Given the description of an element on the screen output the (x, y) to click on. 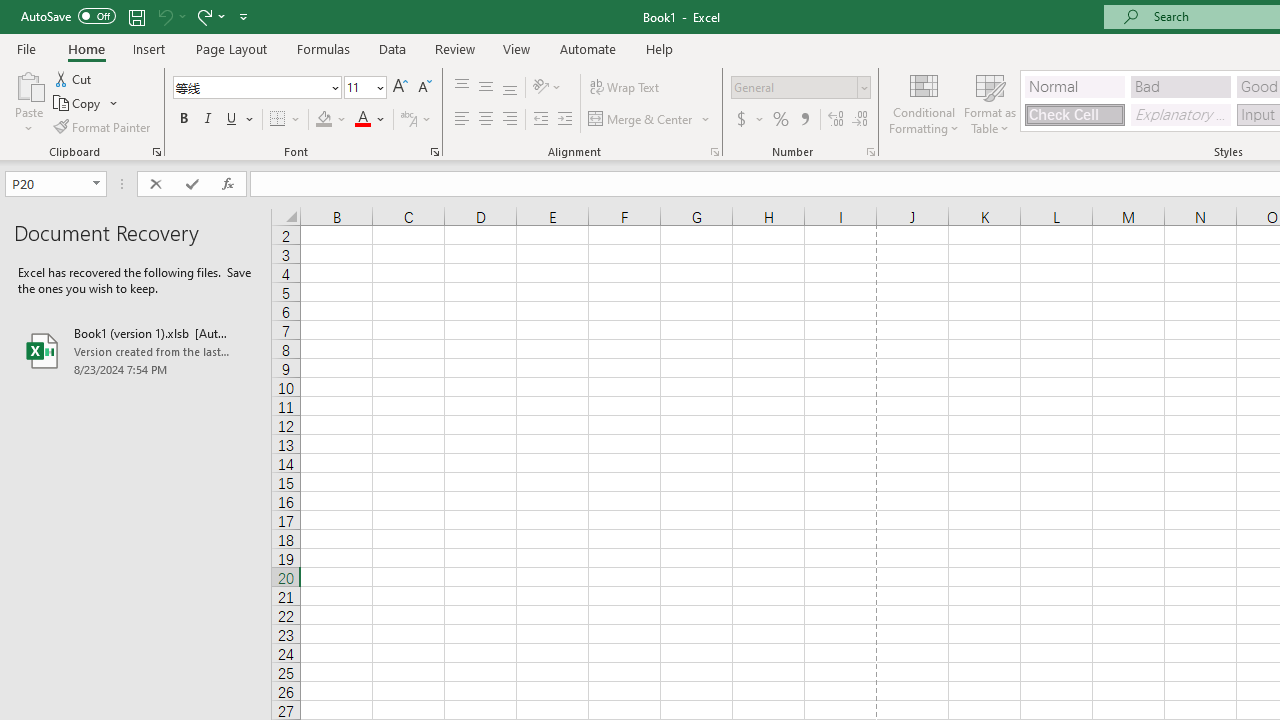
Paste (28, 84)
Bottom Align (509, 87)
Comma Style (804, 119)
Underline (232, 119)
Top Align (461, 87)
Explanatory Text (1180, 114)
Middle Align (485, 87)
Increase Indent (565, 119)
Paste (28, 102)
